Given the description of an element on the screen output the (x, y) to click on. 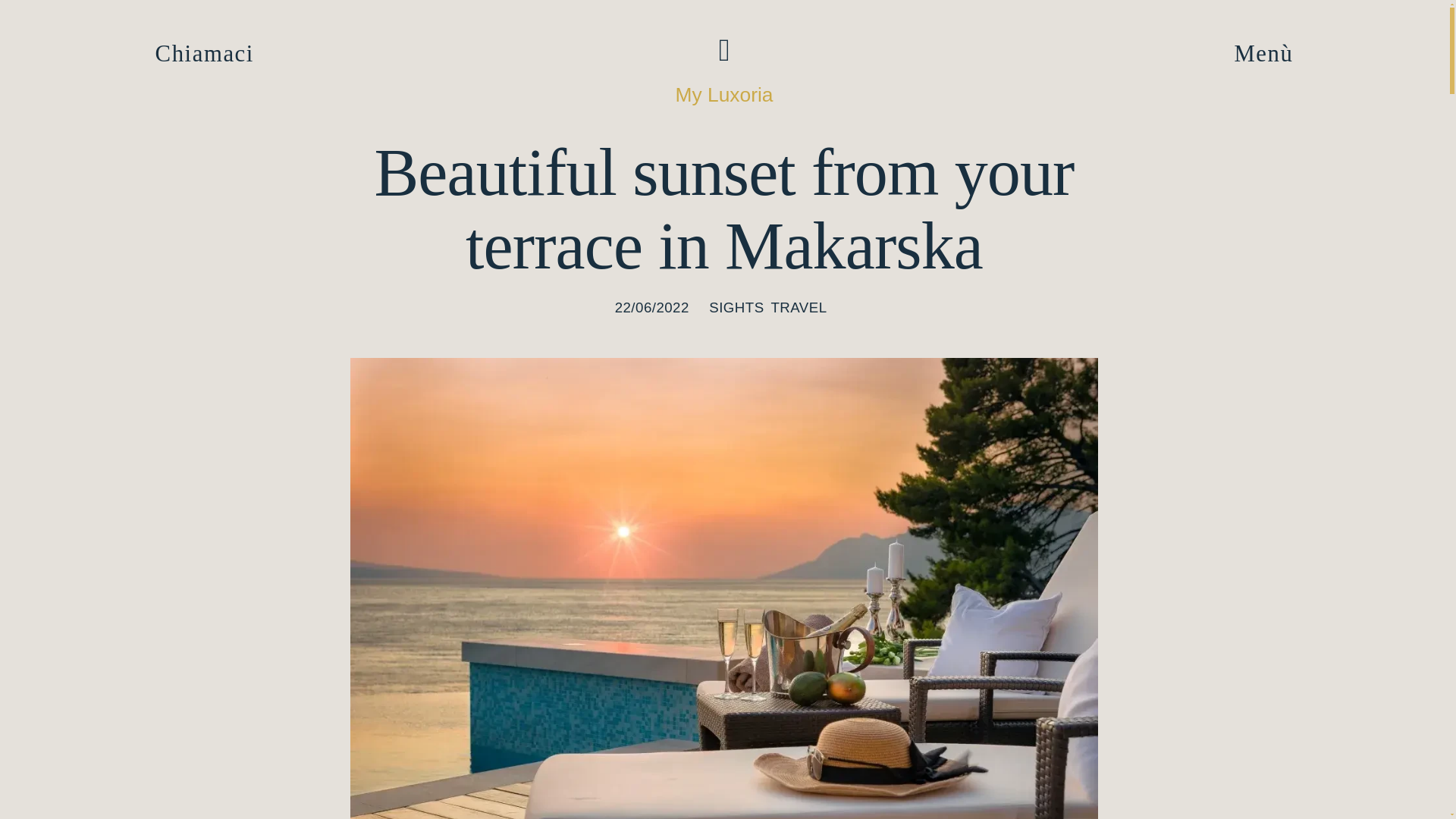
Chiamaci (204, 53)
